Given the description of an element on the screen output the (x, y) to click on. 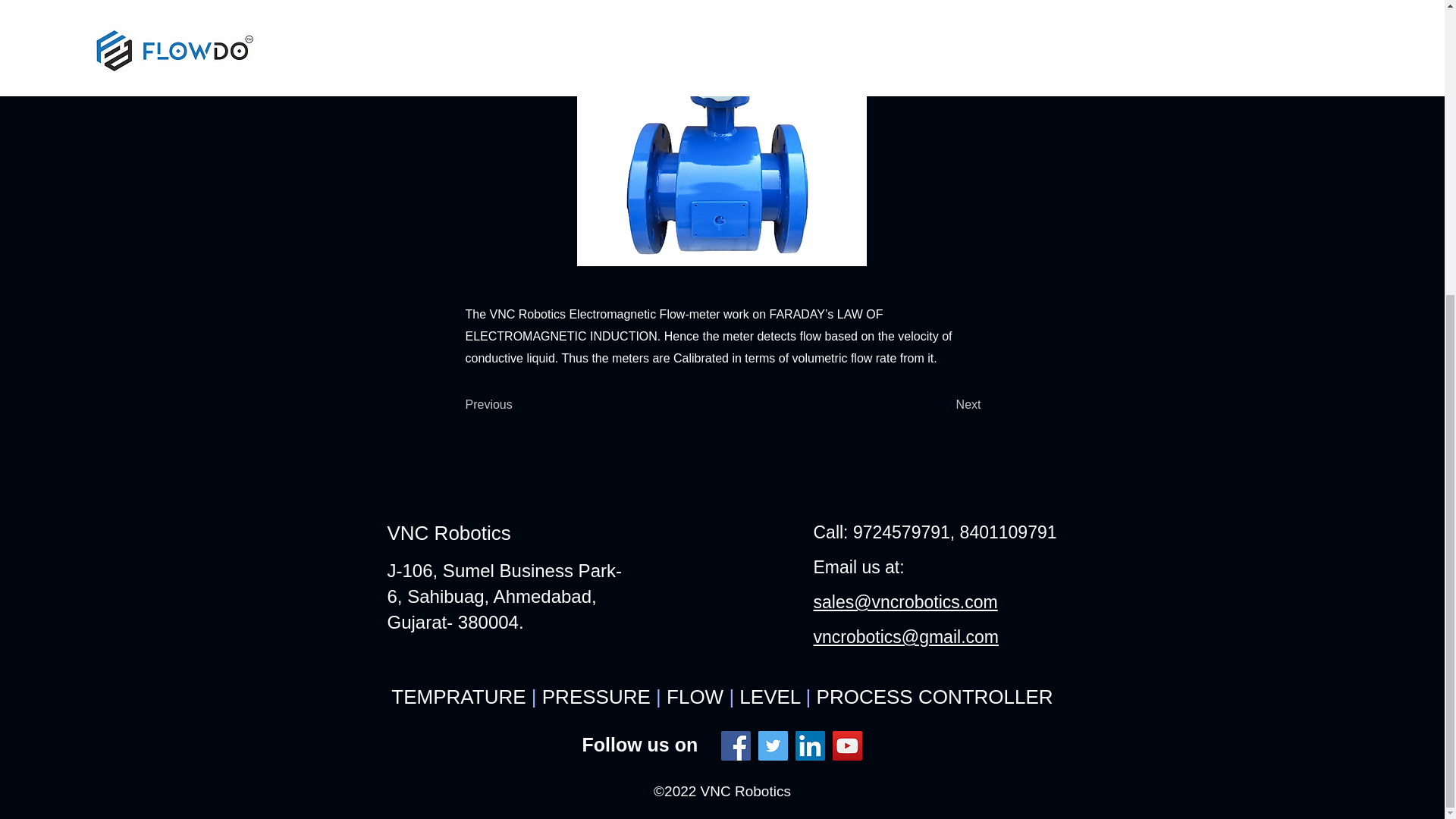
Next (943, 404)
Previous (515, 404)
14.png (721, 133)
